Given the description of an element on the screen output the (x, y) to click on. 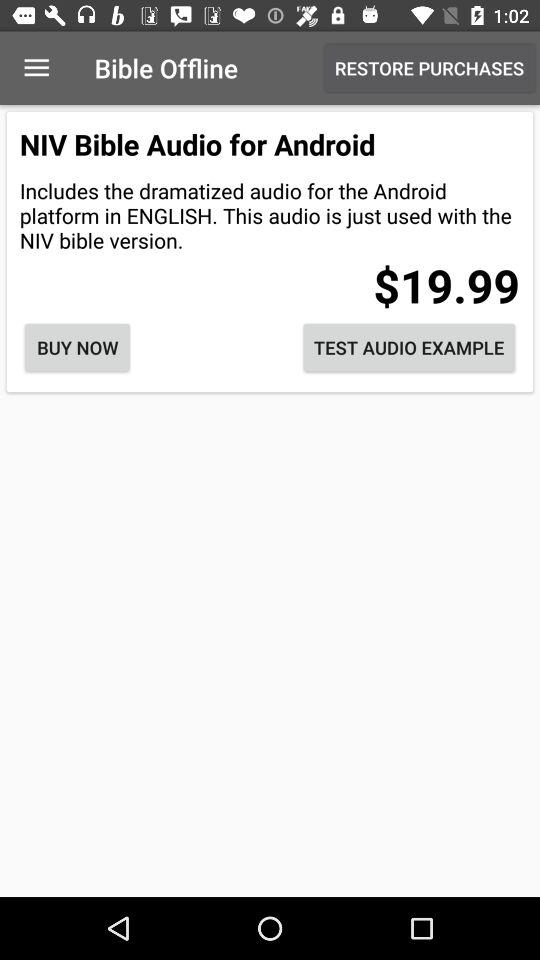
click item next to the bible offline item (429, 67)
